Given the description of an element on the screen output the (x, y) to click on. 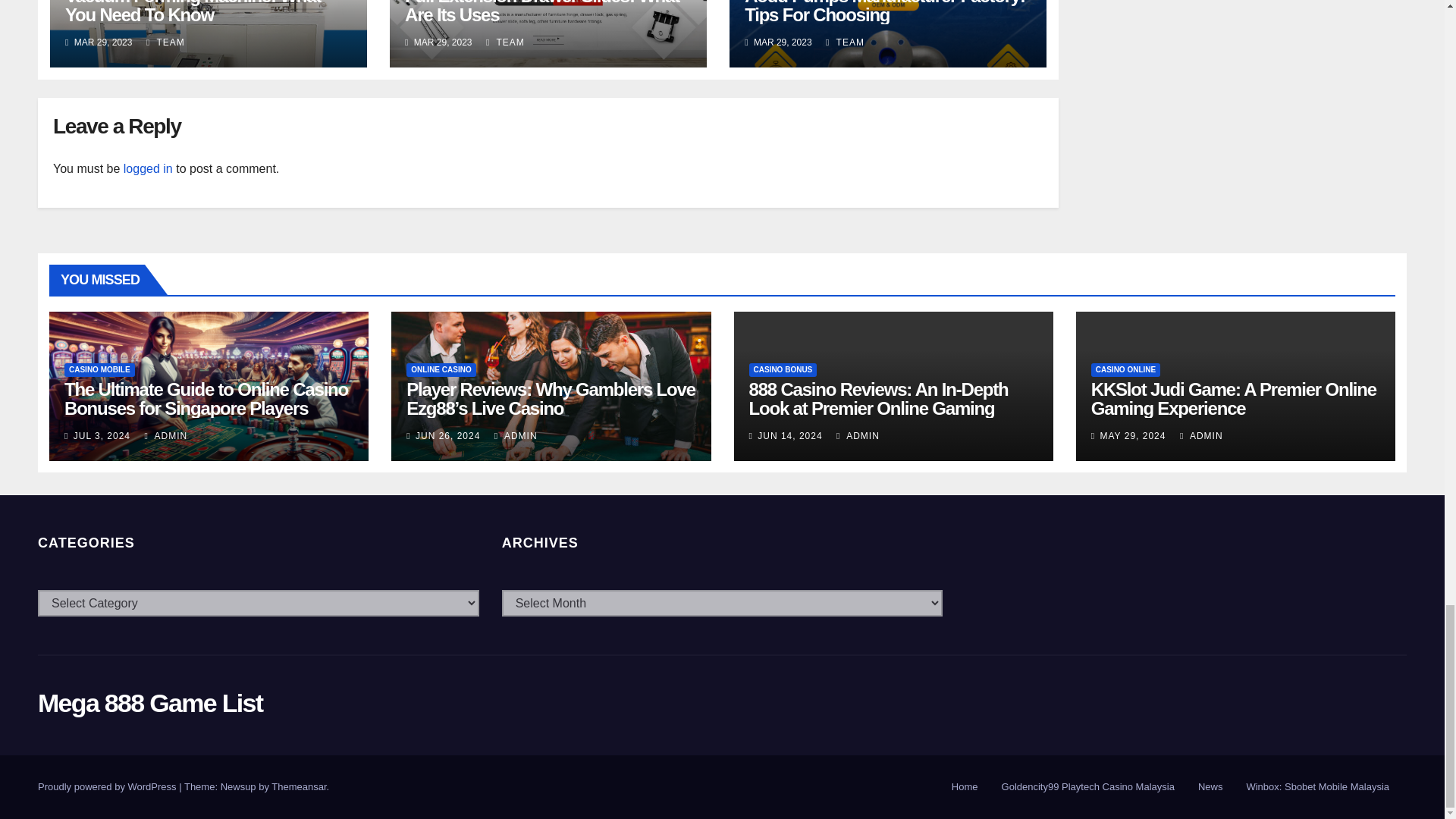
Home (964, 786)
Permalink to: Vacuum Forming Machine: What You Need To Know (192, 12)
